Given the description of an element on the screen output the (x, y) to click on. 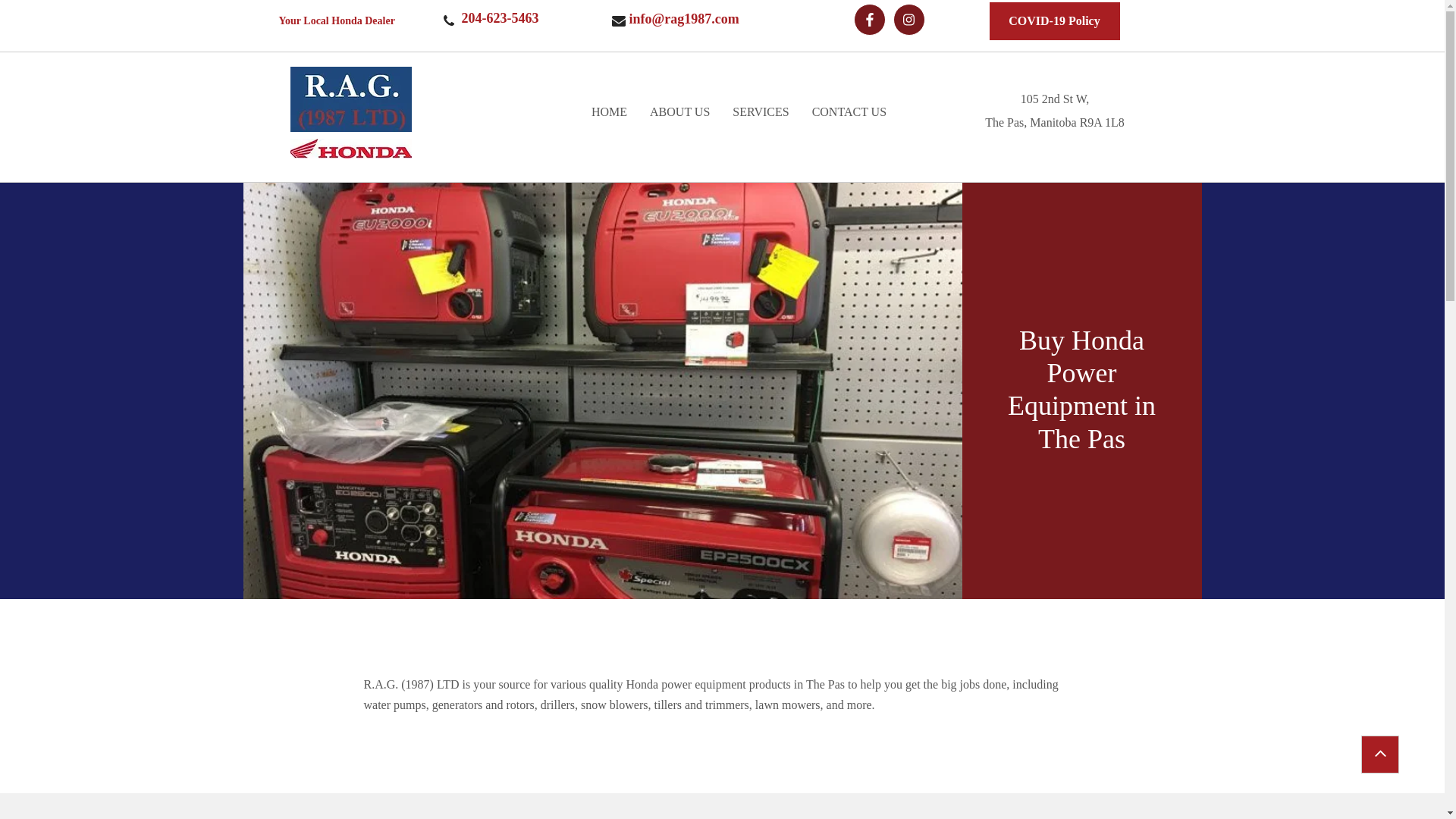
CONTACT US (849, 112)
SERVICES (760, 112)
HOME (609, 112)
COVID-19 Policy (1053, 21)
204-623-5463   (502, 19)
ABOUT US (679, 112)
